Given the description of an element on the screen output the (x, y) to click on. 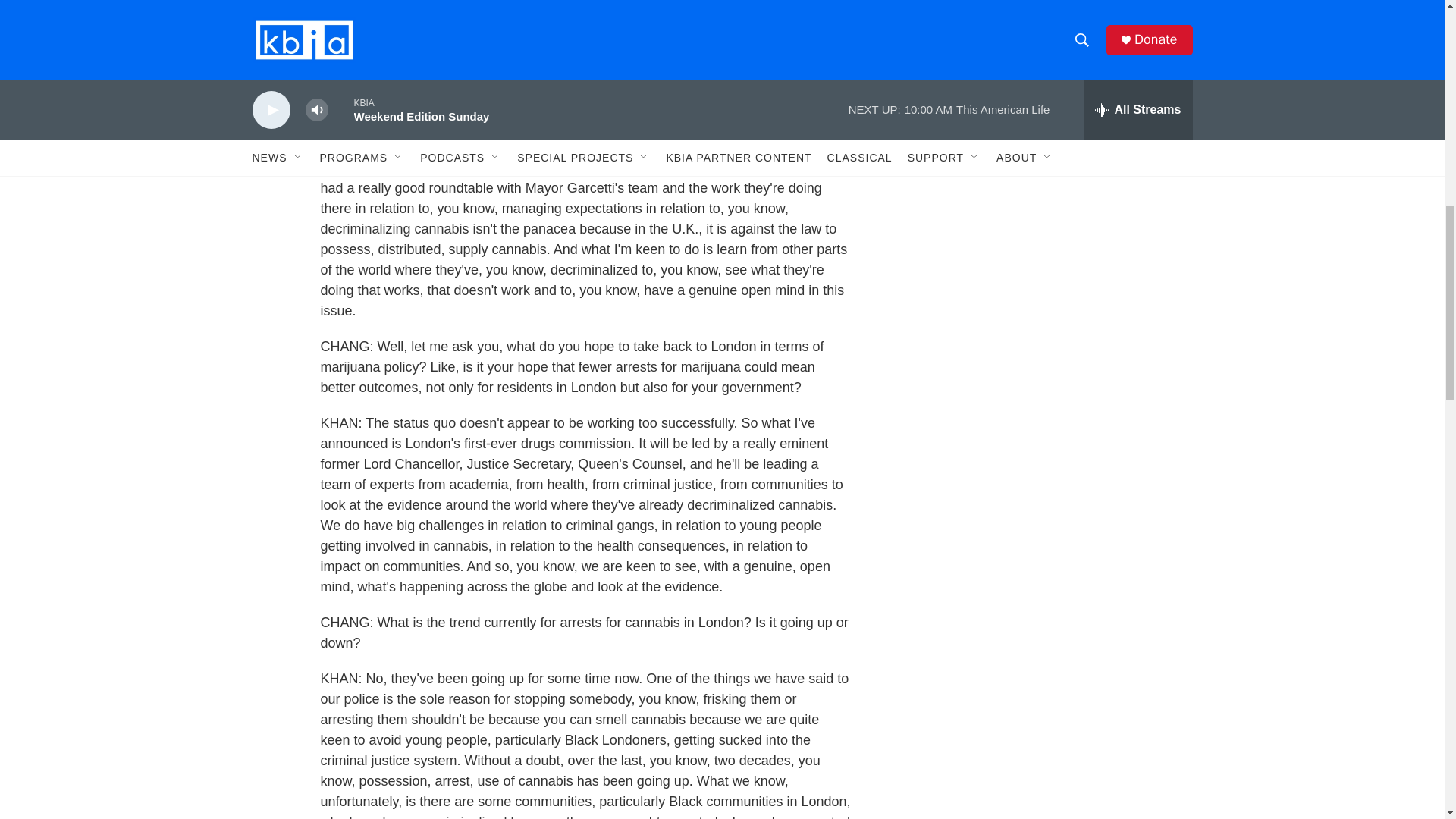
3rd party ad content (1062, 16)
